Given the description of an element on the screen output the (x, y) to click on. 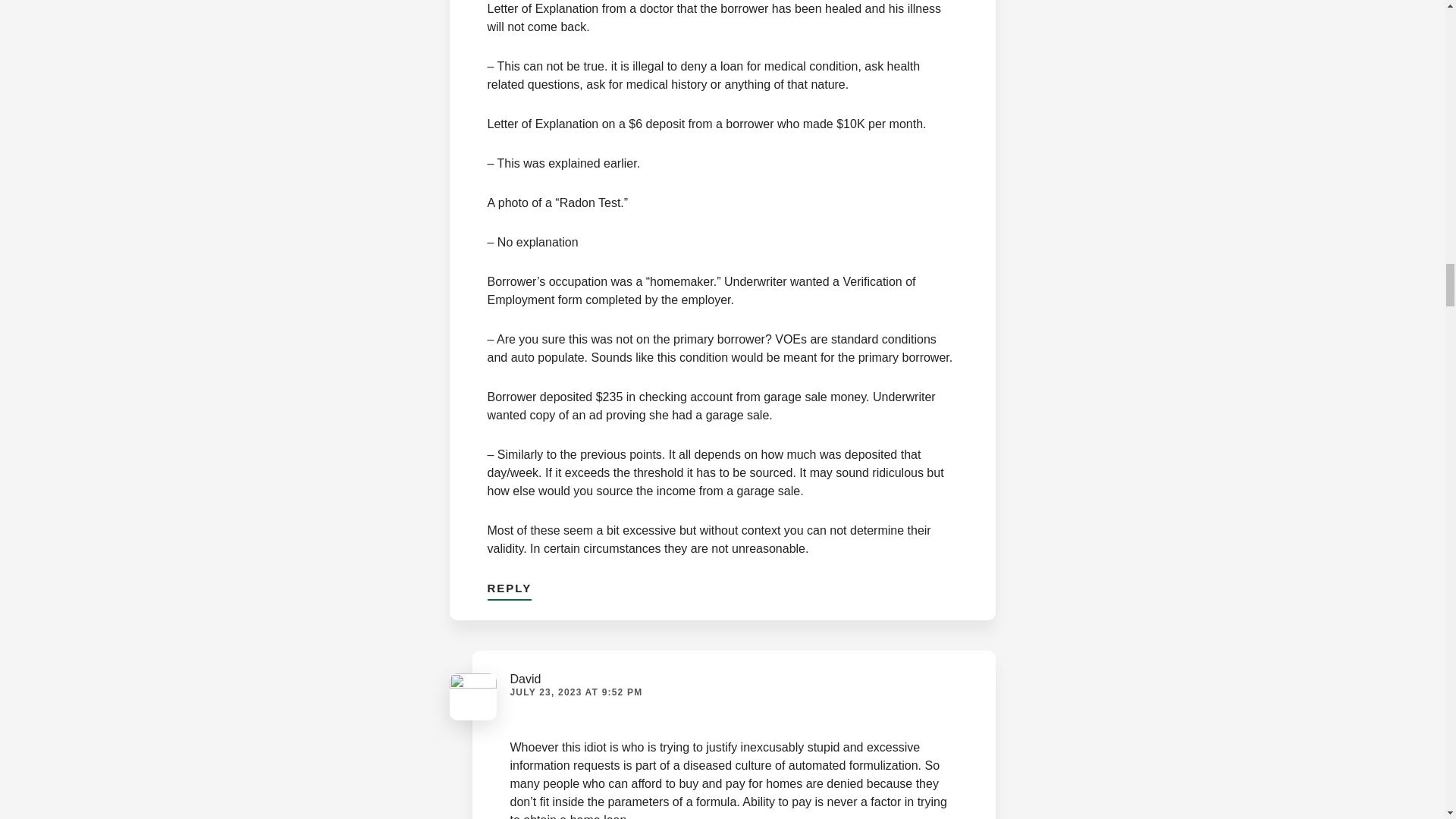
REPLY (508, 584)
JULY 23, 2023 AT 9:52 PM (575, 692)
